Given the description of an element on the screen output the (x, y) to click on. 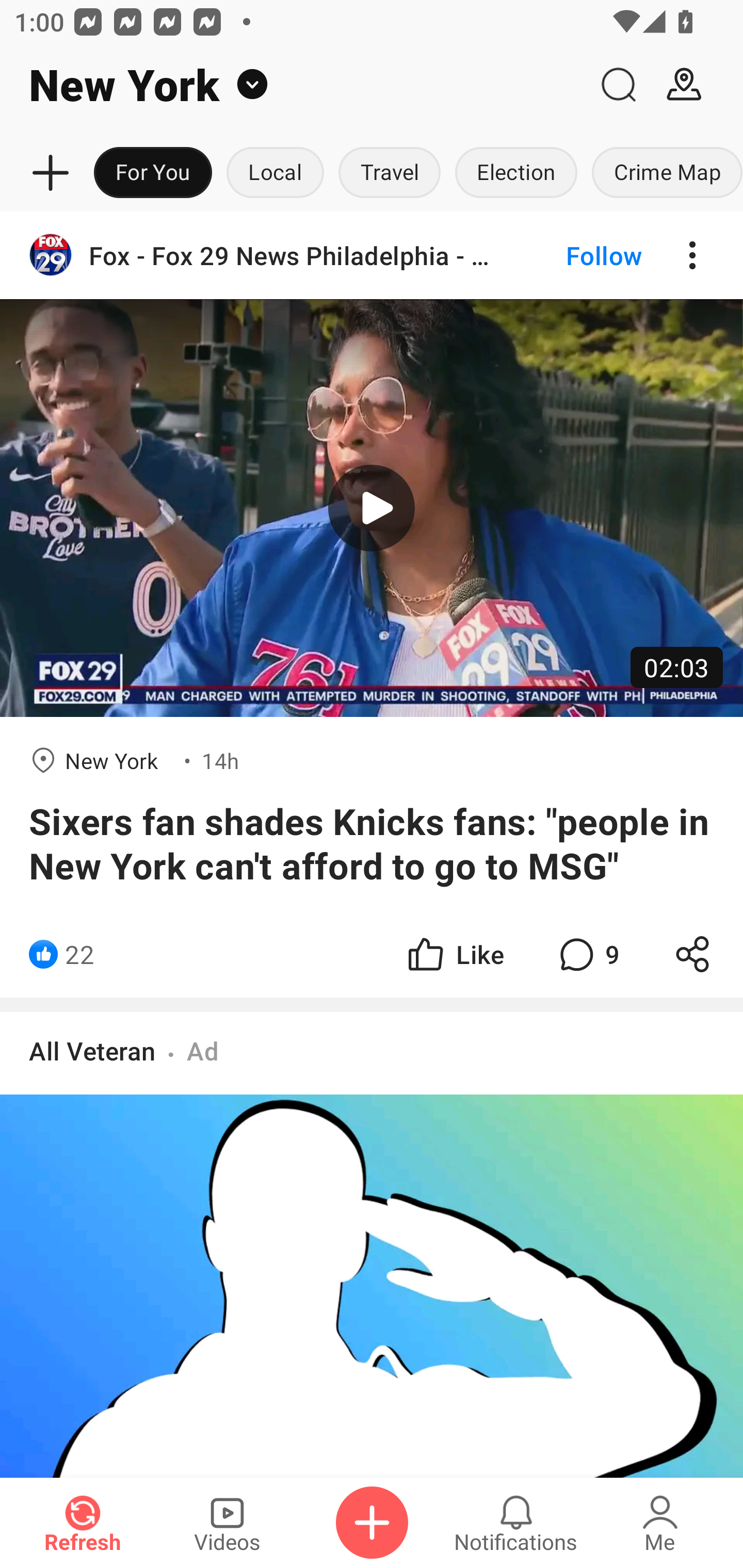
New York (292, 84)
For You (152, 172)
Local (275, 172)
Travel (389, 172)
Election (516, 172)
Crime Map (663, 172)
Fox - Fox 29 News Philadelphia - TV Follow (371, 255)
Follow (569, 255)
22 (79, 954)
Like (454, 954)
9 (587, 954)
All Veteran (92, 1050)
Videos (227, 1522)
Notifications (516, 1522)
Me (659, 1522)
